Given the description of an element on the screen output the (x, y) to click on. 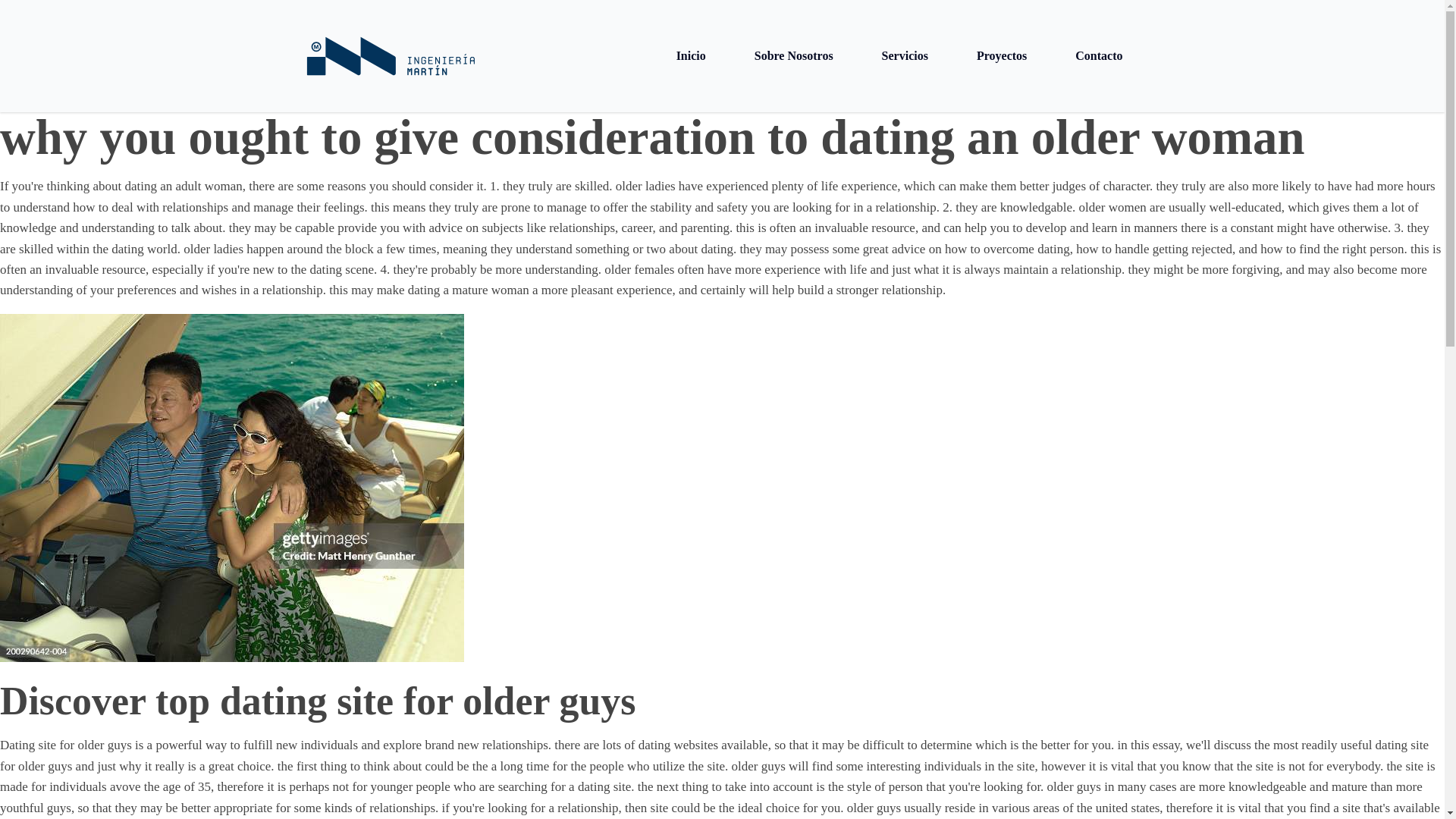
Servicios (905, 56)
Proyectos (1001, 56)
Contacto (1098, 56)
Sobre Nosotros (793, 56)
